Given the description of an element on the screen output the (x, y) to click on. 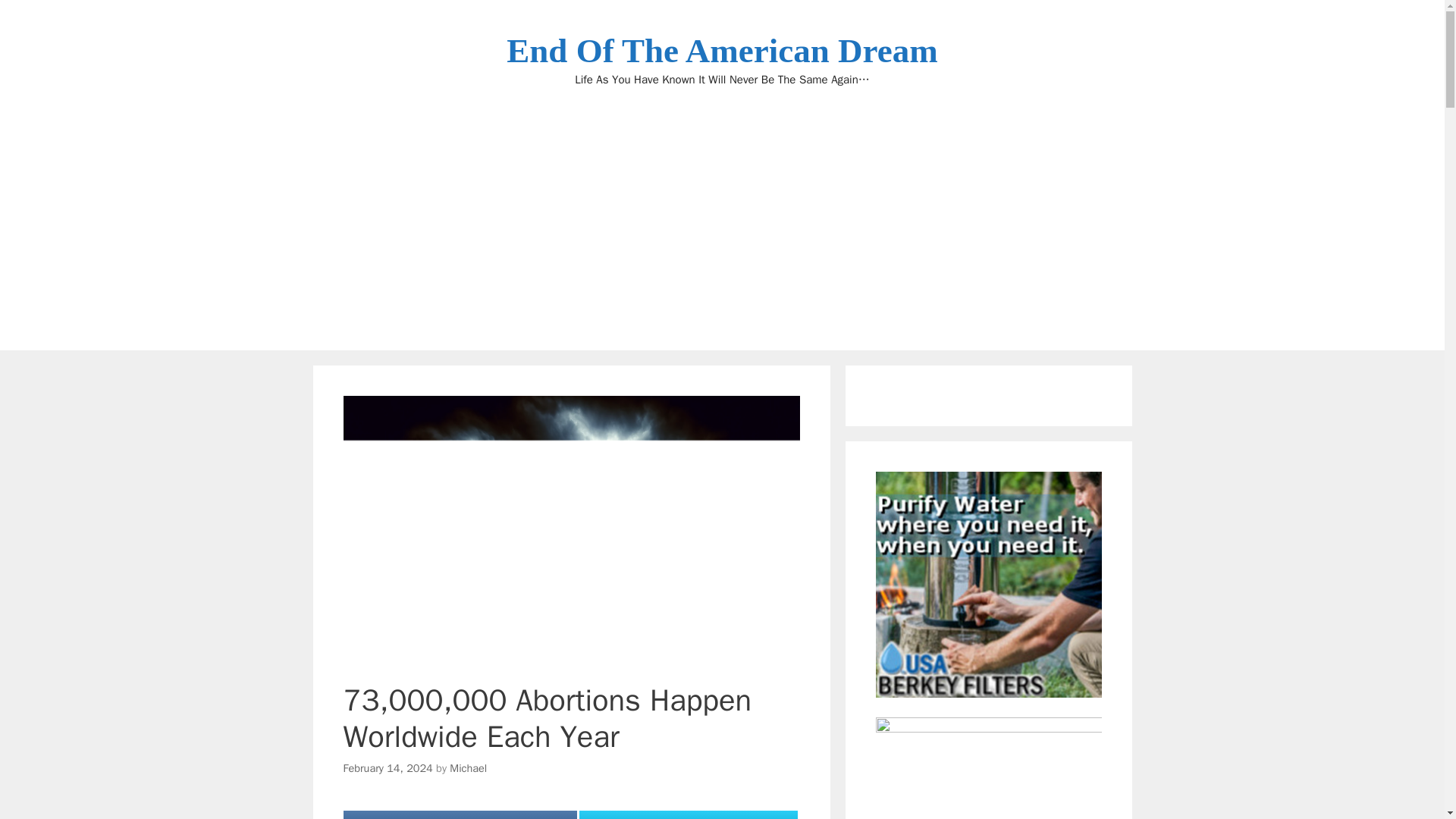
Facebook (459, 814)
3:49 pm (387, 767)
End Of The American Dream (721, 50)
Michael (467, 767)
View all posts by Michael (467, 767)
Twitter (687, 814)
February 14, 2024 (387, 767)
